Given the description of an element on the screen output the (x, y) to click on. 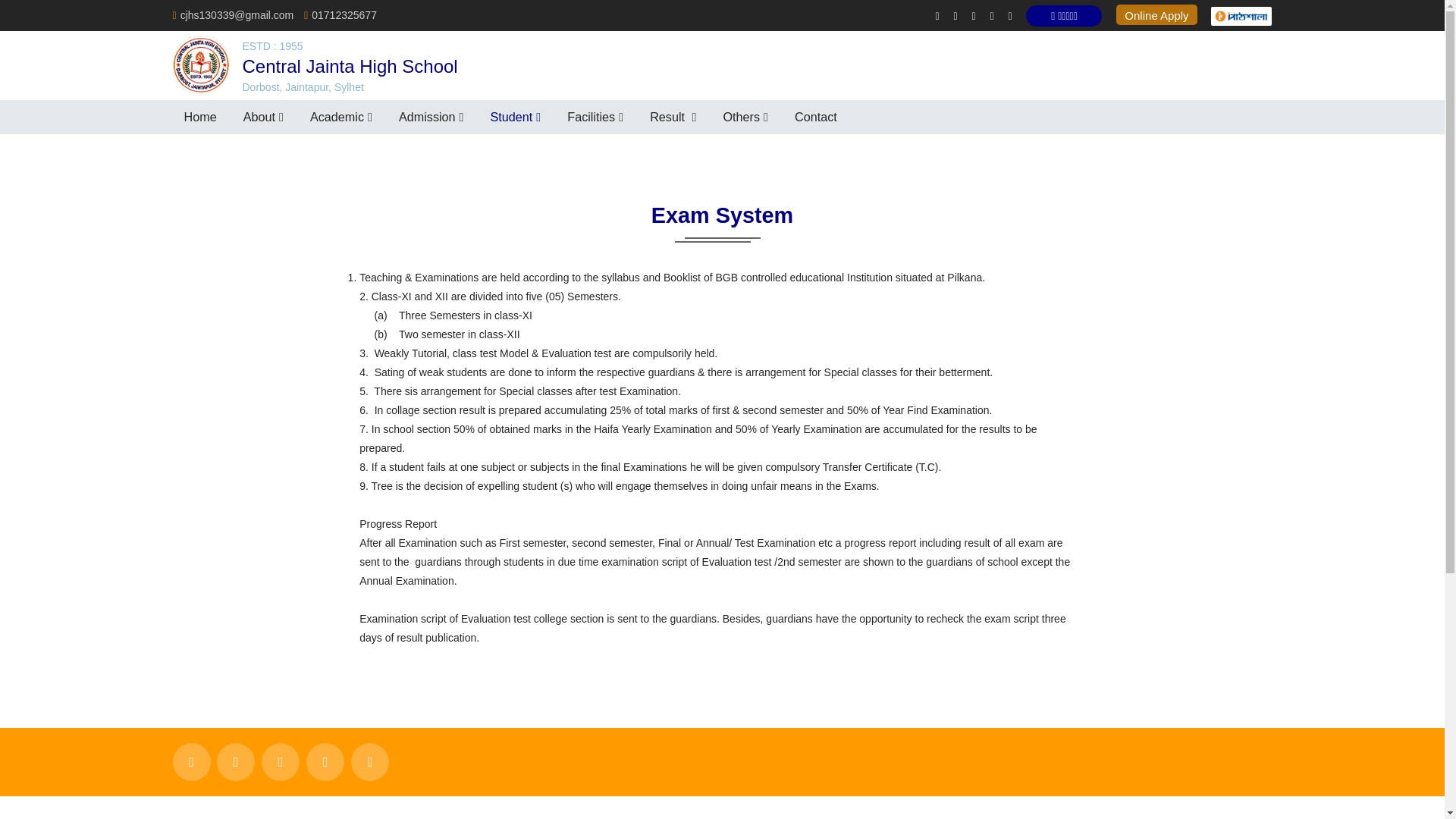
Online Apply (1156, 14)
